Given the description of an element on the screen output the (x, y) to click on. 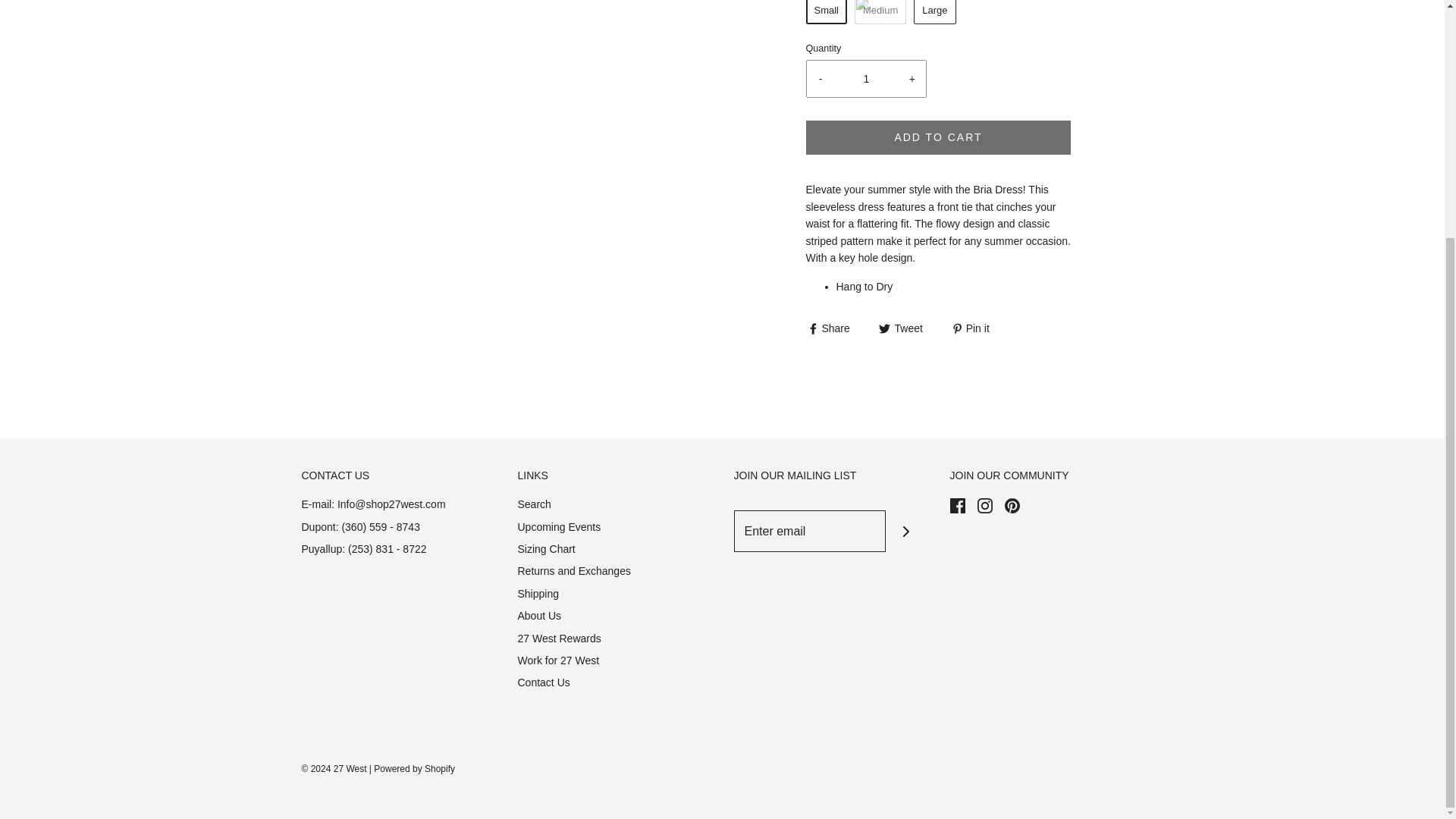
Pinterest icon (1011, 505)
Instagram icon (983, 505)
1 (866, 78)
Facebook icon (956, 505)
